Given the description of an element on the screen output the (x, y) to click on. 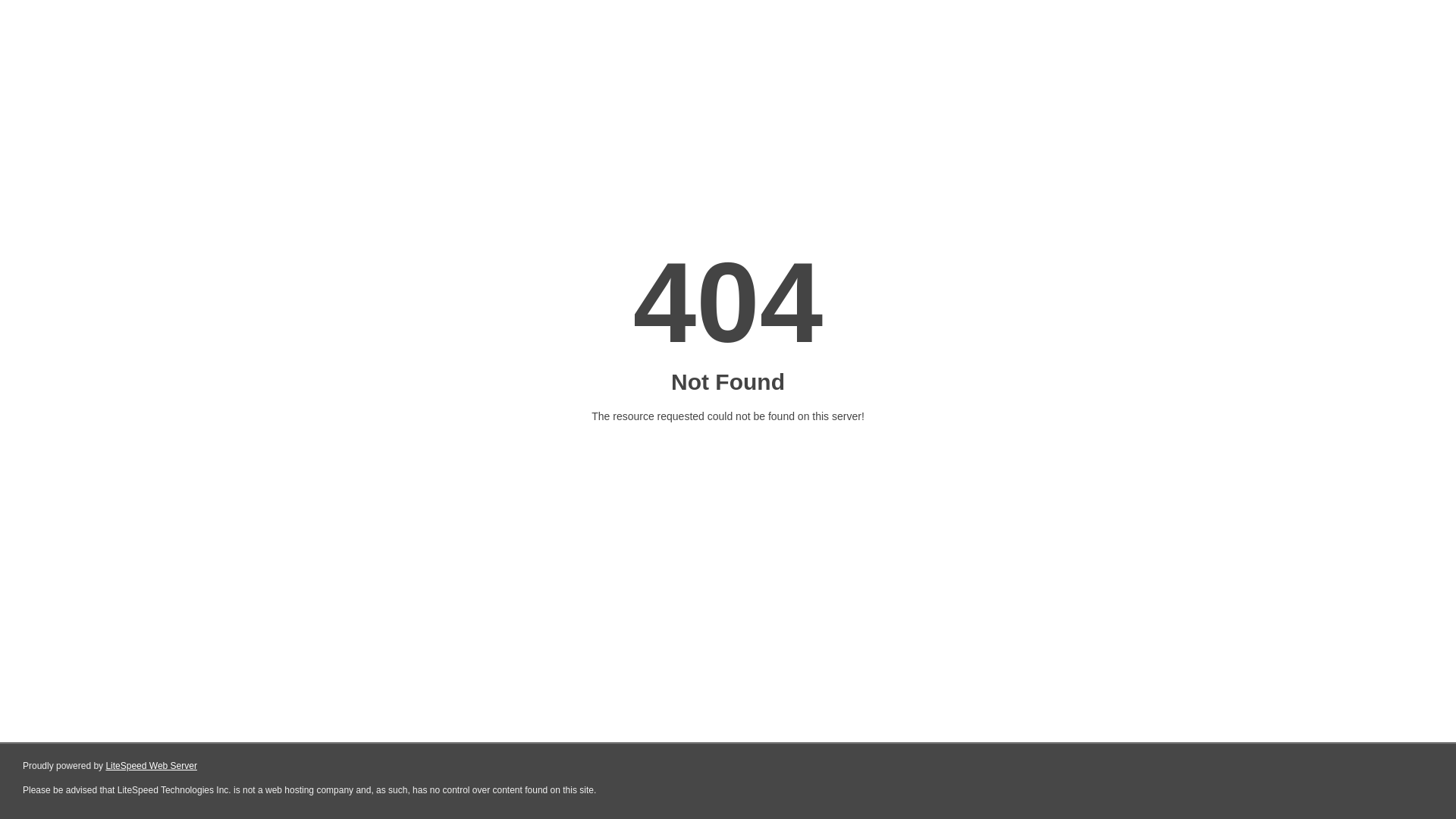
LiteSpeed Web Server Element type: text (151, 765)
